Given the description of an element on the screen output the (x, y) to click on. 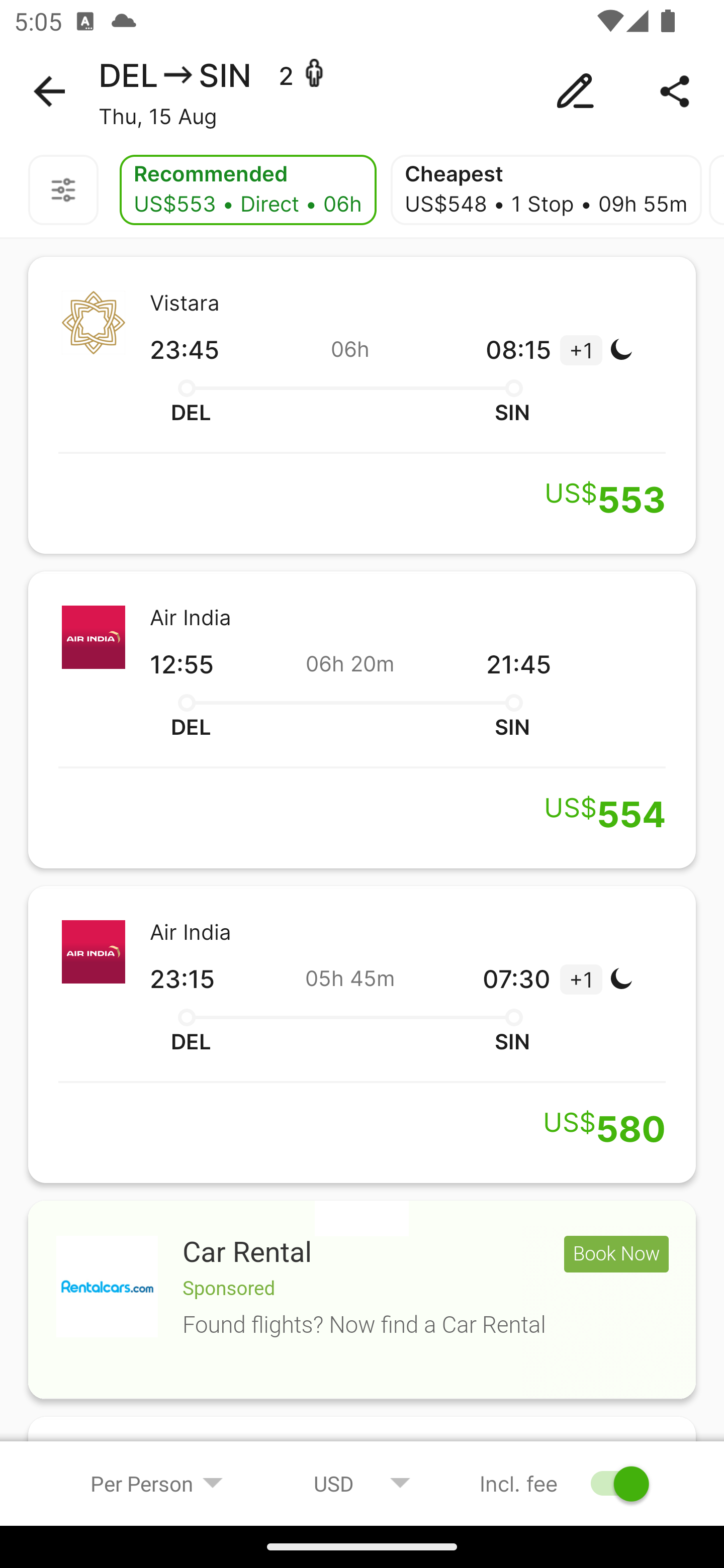
DEL SIN   2 - Thu, 15 Aug (361, 91)
Recommended  US$553 • Direct • 06h (247, 190)
Cheapest US$548 • 1 Stop • 09h 55m (545, 190)
Vistara 23:45 06h 08:15 DEL SIN +1 (361, 405)
Air India 12:55 06h 20m 21:45 DEL SIN (361, 719)
Air India 23:15 05h 45m 07:30 DEL SIN +1 (361, 1033)
Per Person (156, 1482)
USD (361, 1482)
